Given the description of an element on the screen output the (x, y) to click on. 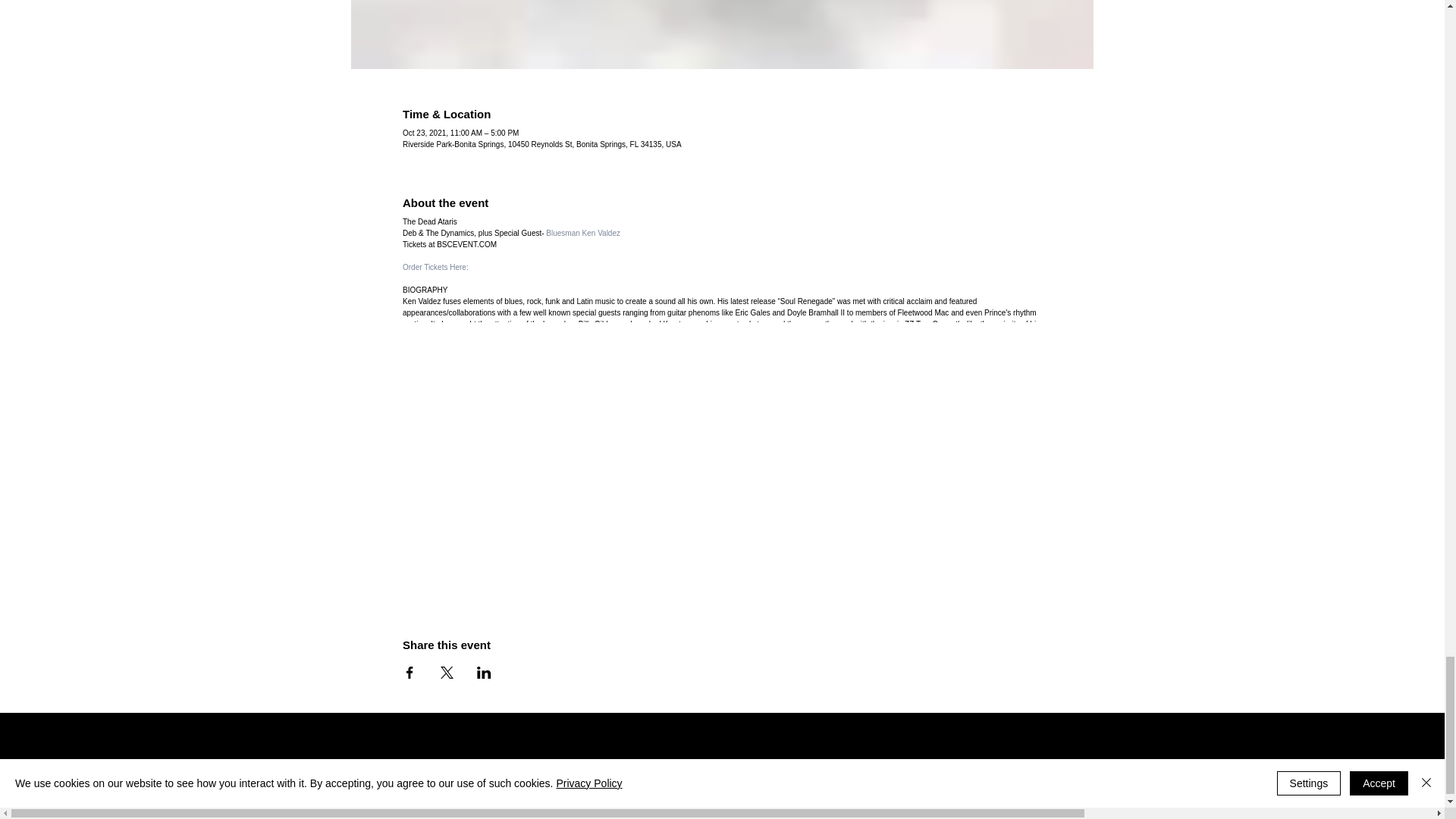
Order Tickets Here: (435, 266)
Bluesman Ken Valdez (583, 233)
